Given the description of an element on the screen output the (x, y) to click on. 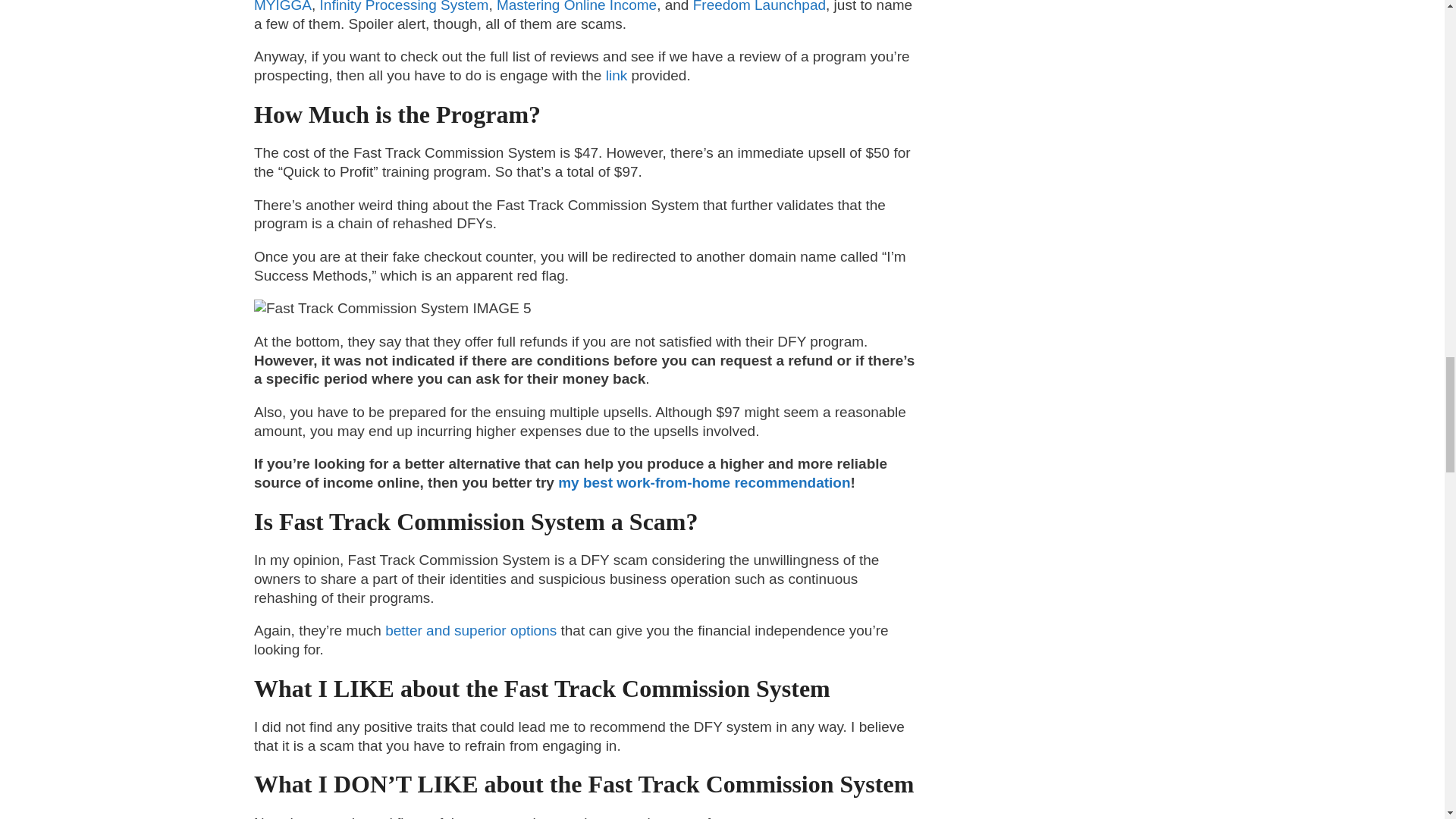
Infinity Processing System (401, 6)
Mastering Online Income (575, 6)
link (616, 75)
Freedom Launchpad (756, 6)
my best work-from-home recommendation (702, 482)
MYIGGA (282, 6)
